Given the description of an element on the screen output the (x, y) to click on. 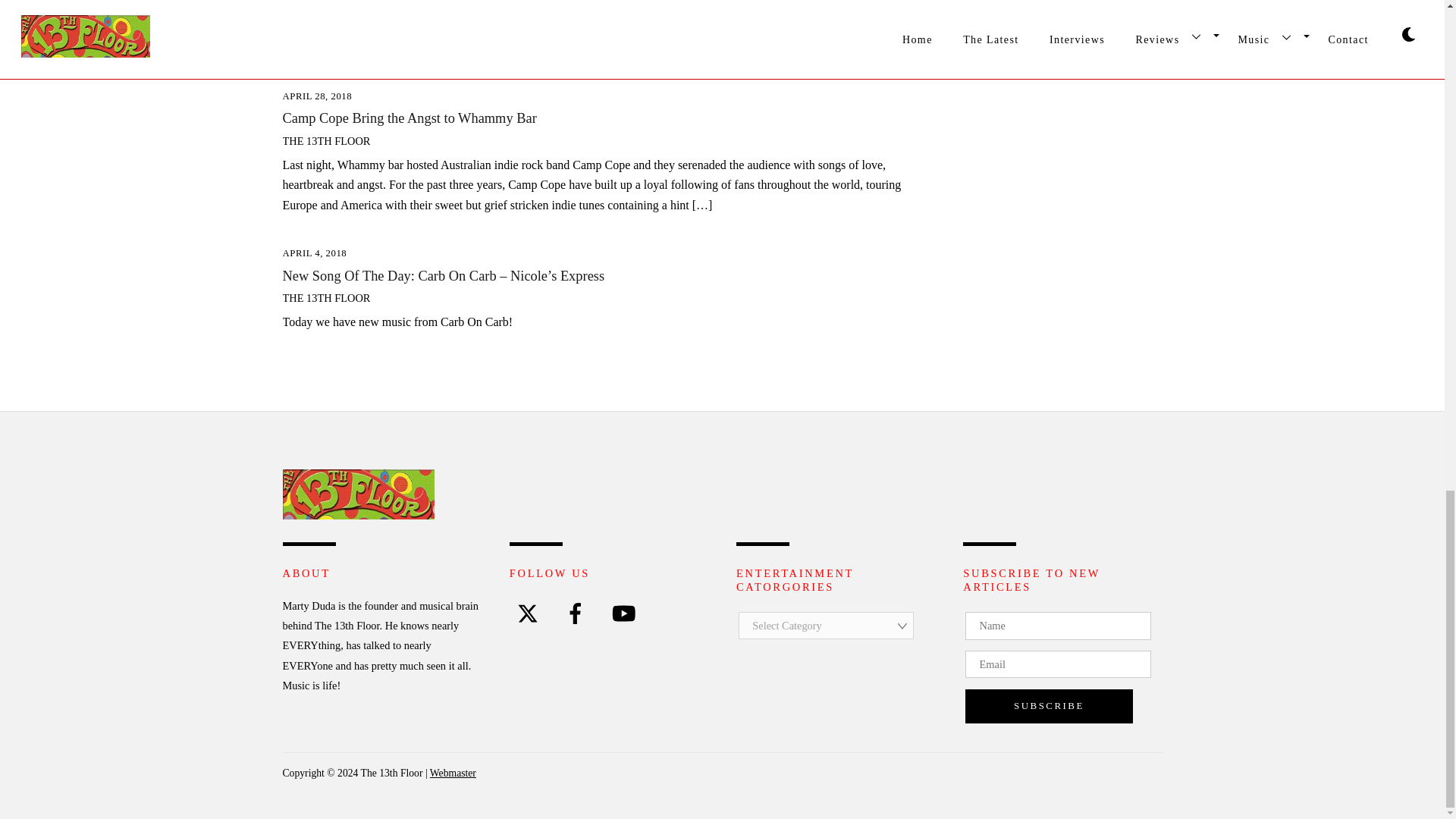
Subscribe (1048, 706)
The 13th Floor (357, 514)
